Given the description of an element on the screen output the (x, y) to click on. 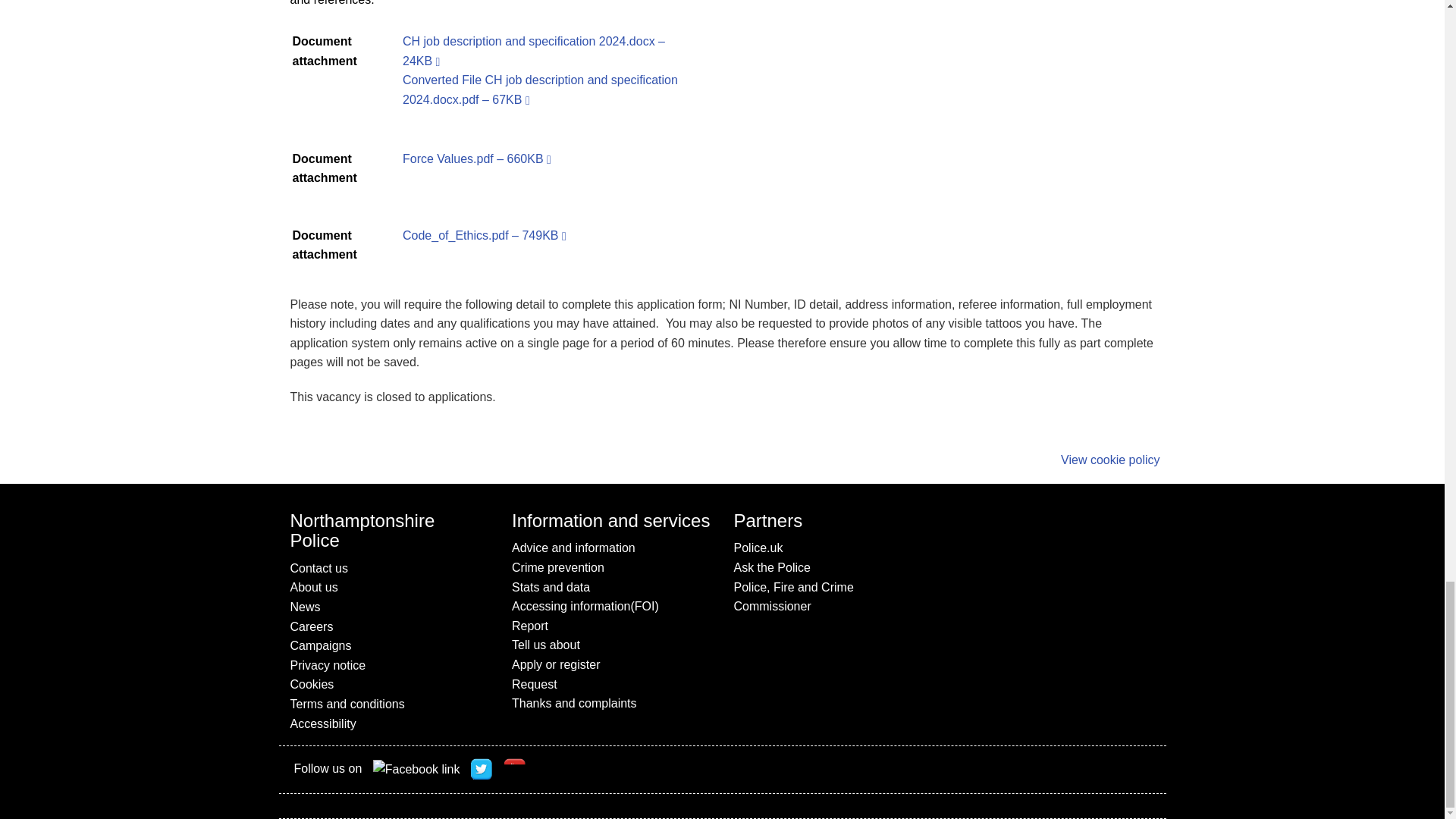
follow us on Facebook - Links to an external site (416, 769)
About us (389, 587)
News (389, 607)
Watch our videos - Links to an external site (515, 769)
Apply or register (611, 664)
Contact us (389, 568)
Terms and conditions (389, 704)
Campaigns (389, 646)
Careers (389, 627)
Crime prevention (611, 567)
Thanks and complaints (611, 703)
Request (611, 684)
Cookies (389, 684)
Accessibility (389, 723)
Tell us about (611, 645)
